Given the description of an element on the screen output the (x, y) to click on. 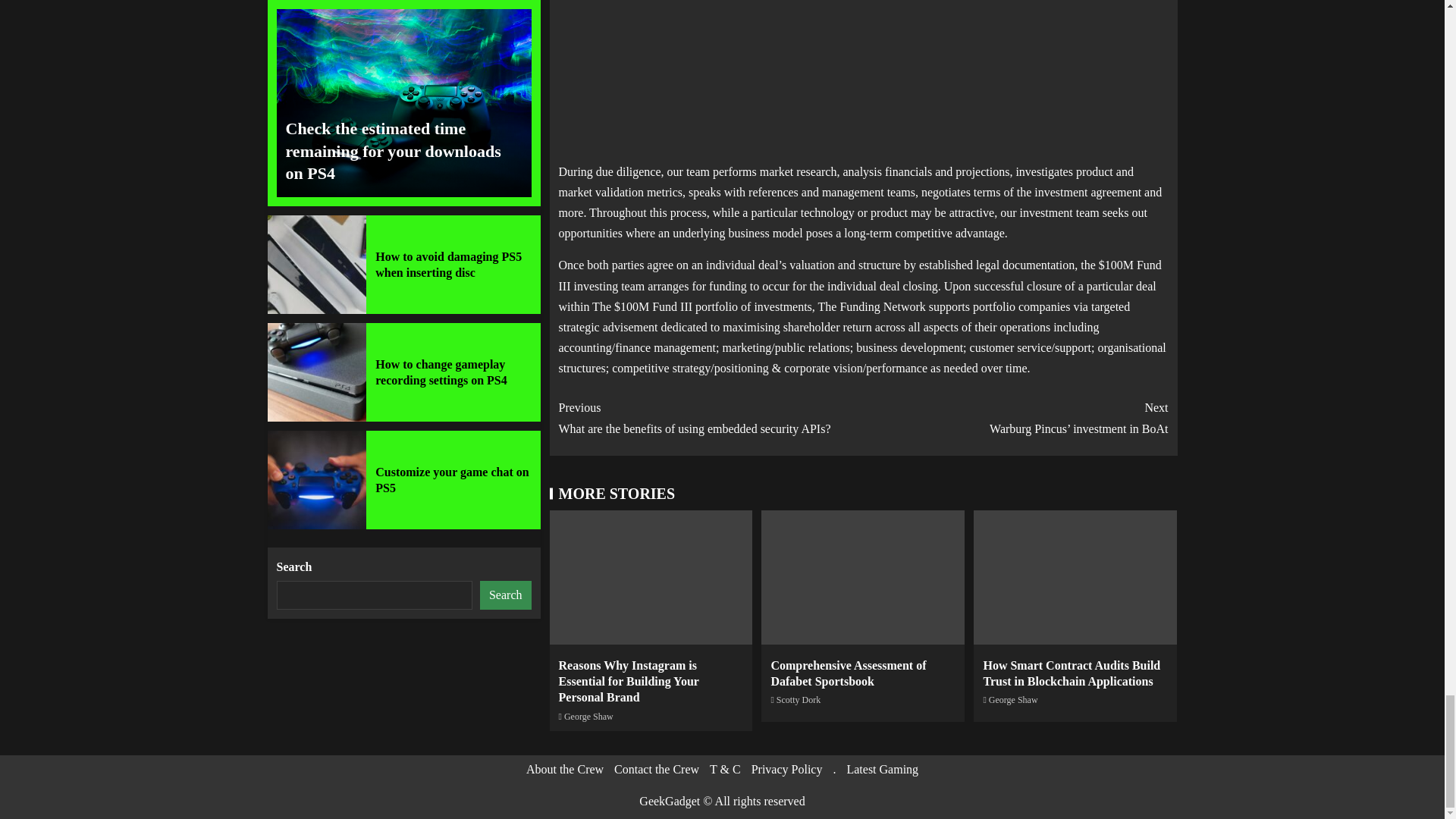
George Shaw (588, 716)
George Shaw (1013, 699)
Comprehensive Assessment of Dafabet Sportsbook (848, 673)
Scotty Dork (798, 699)
